Given the description of an element on the screen output the (x, y) to click on. 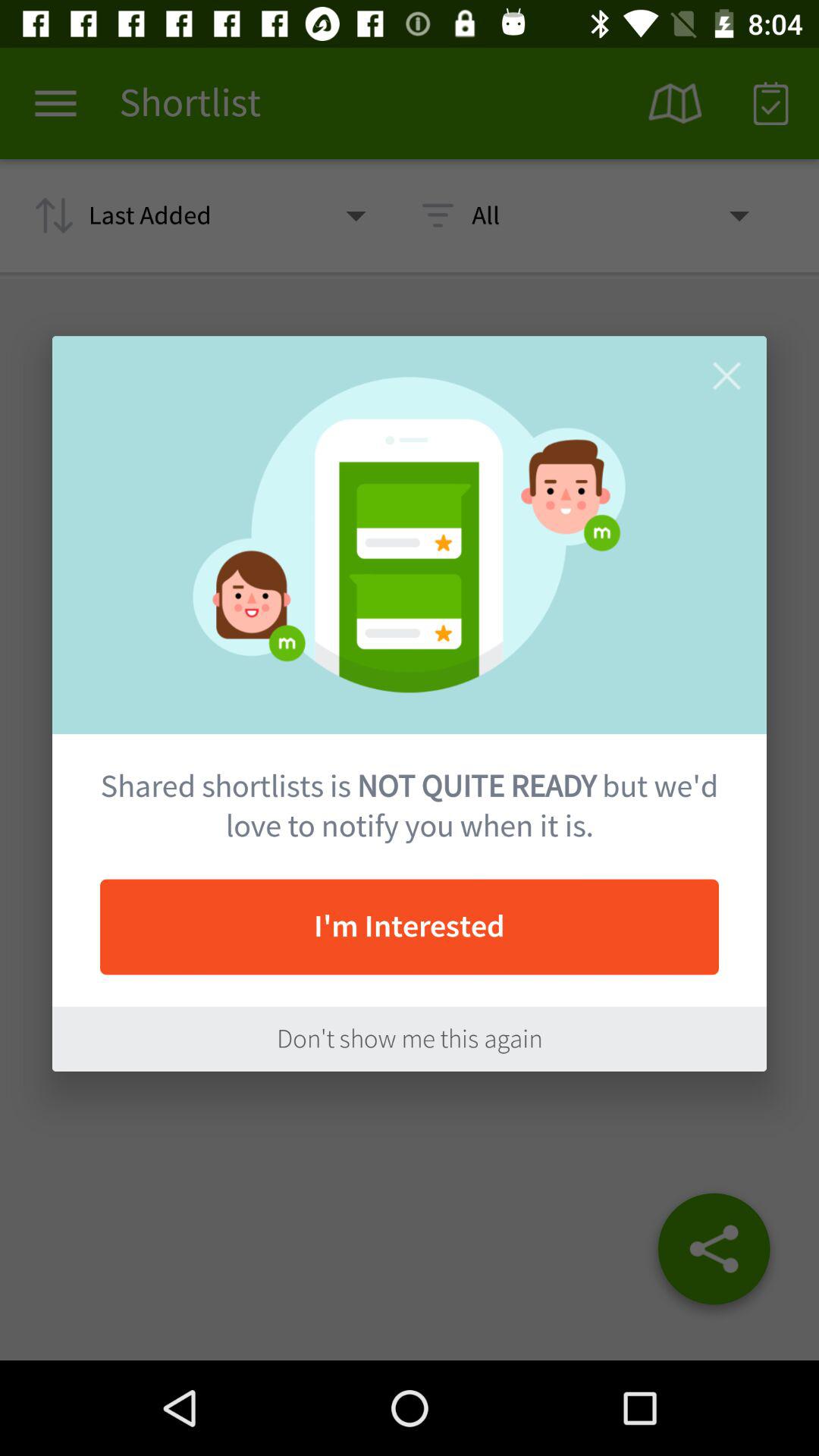
close this page (726, 375)
